Given the description of an element on the screen output the (x, y) to click on. 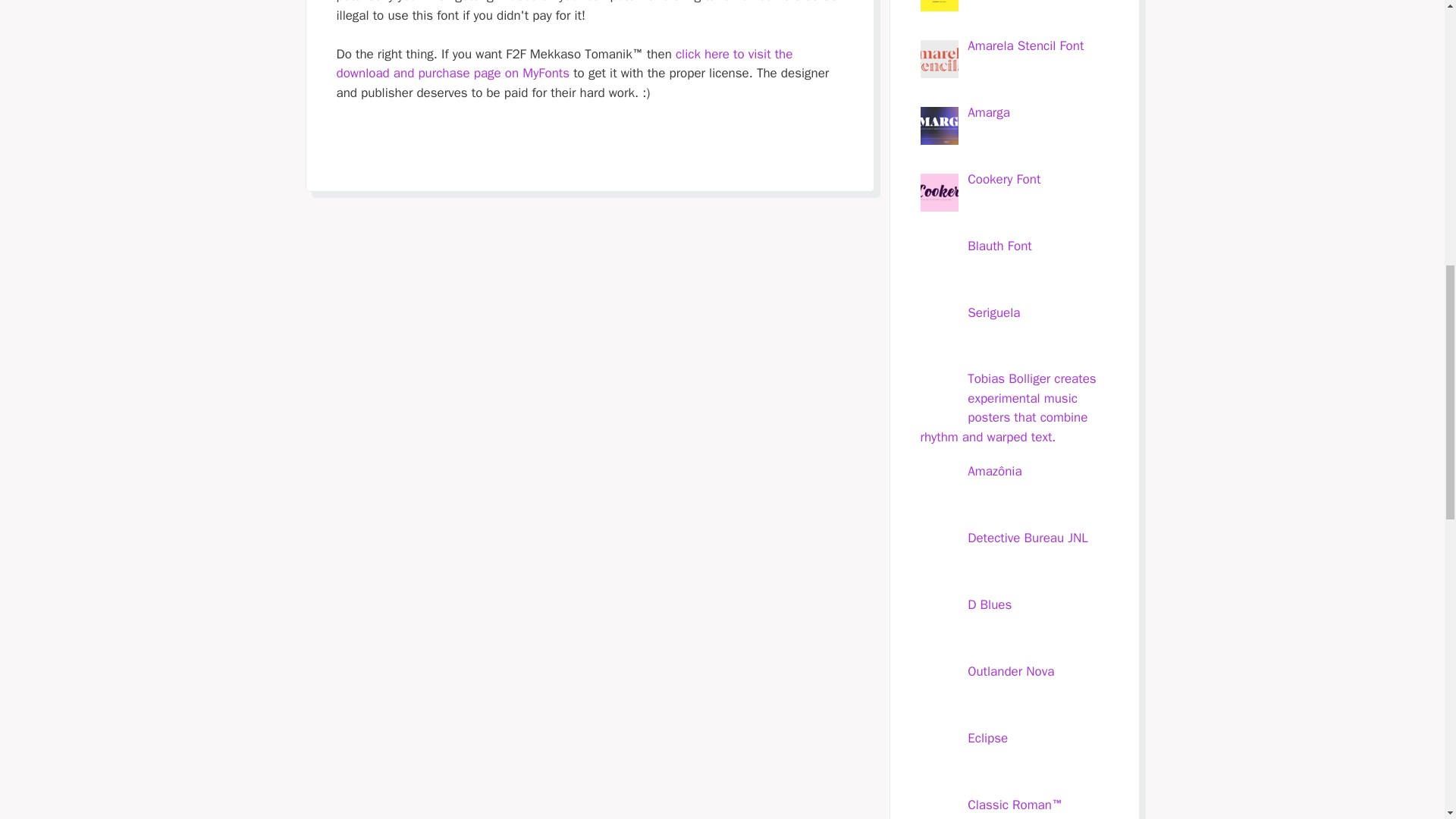
Detective Bureau JNL (1027, 537)
Amarela Stencil Font (1025, 45)
Seriguela (994, 312)
Cookery Font (1004, 179)
Blauth Font (1000, 245)
Amarga (989, 112)
Eclipse (987, 738)
D Blues (989, 604)
Outlander Nova (1011, 671)
